Given the description of an element on the screen output the (x, y) to click on. 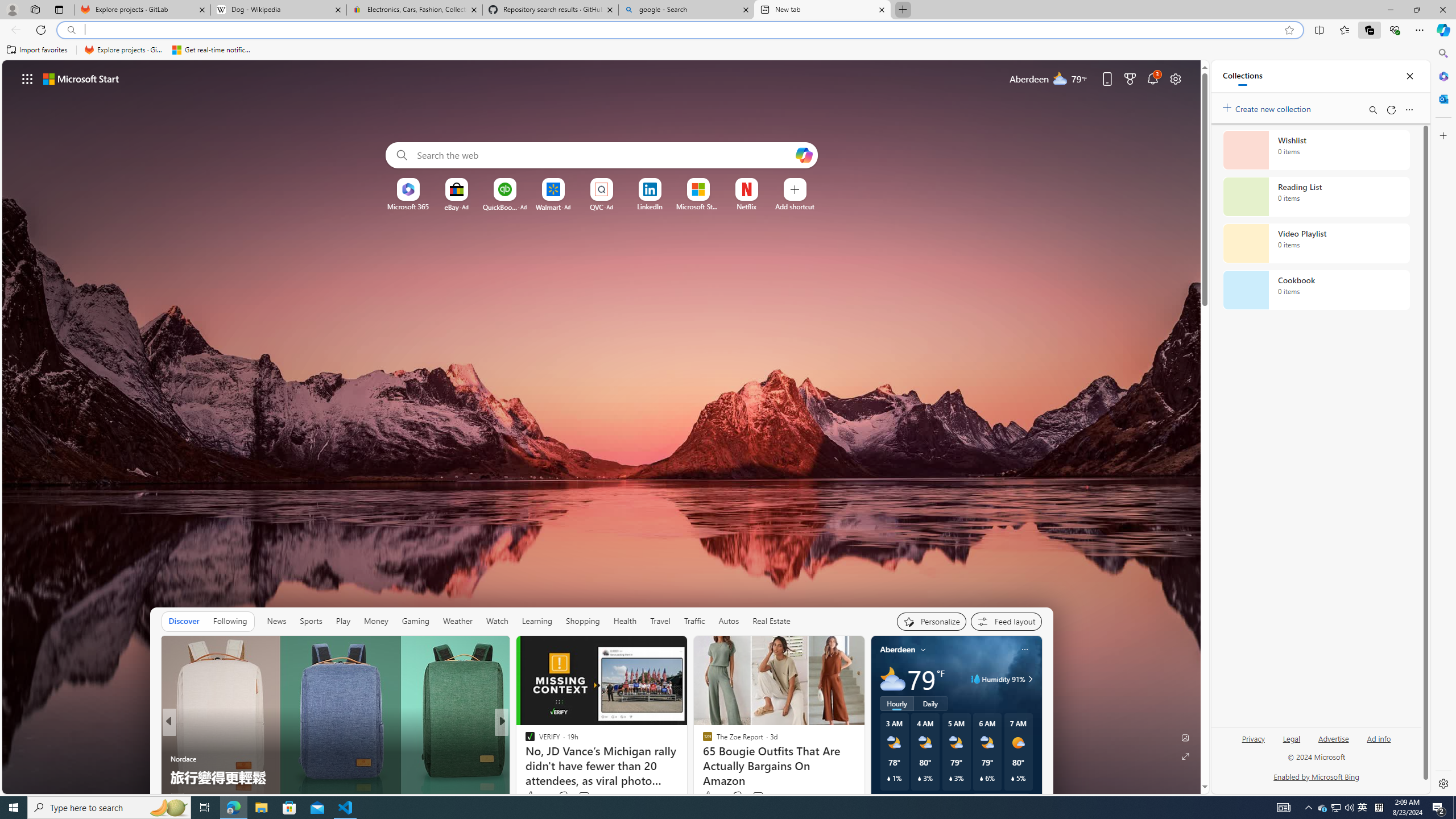
View comments 121 Comment (590, 795)
40 Like (530, 796)
Enter your search term (603, 155)
Feed settings (1005, 621)
Microsoft start (81, 78)
Learning (537, 621)
